Given the description of an element on the screen output the (x, y) to click on. 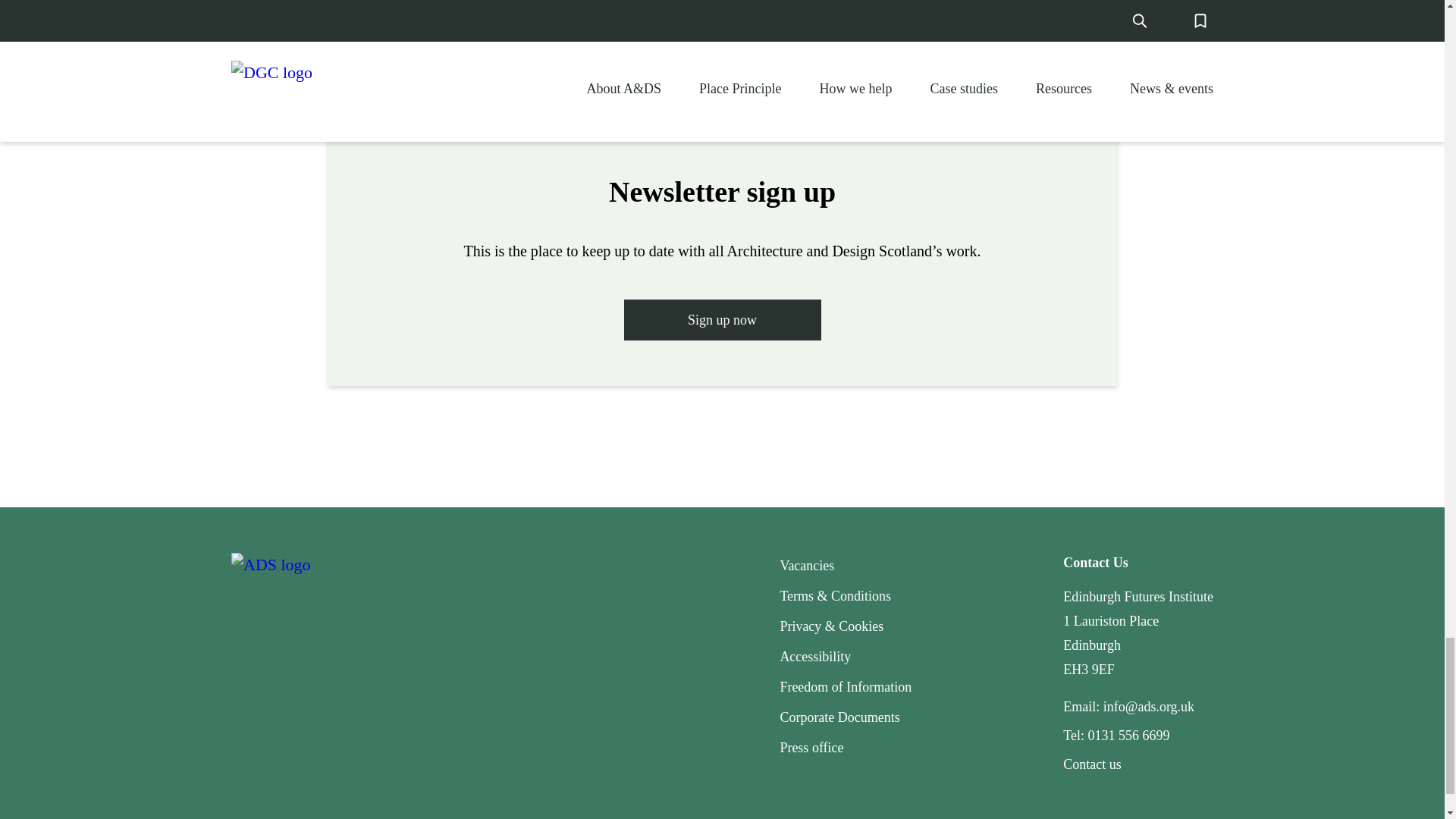
Press office (810, 747)
Accessibility (814, 656)
Freedom of Information (844, 687)
Sign up now (722, 319)
Vacancies (806, 565)
Sign up now (722, 318)
Contact us (1091, 764)
Share your work (722, 17)
Corporate Documents (838, 717)
Tel: 0131 556 6699 (1115, 735)
